Given the description of an element on the screen output the (x, y) to click on. 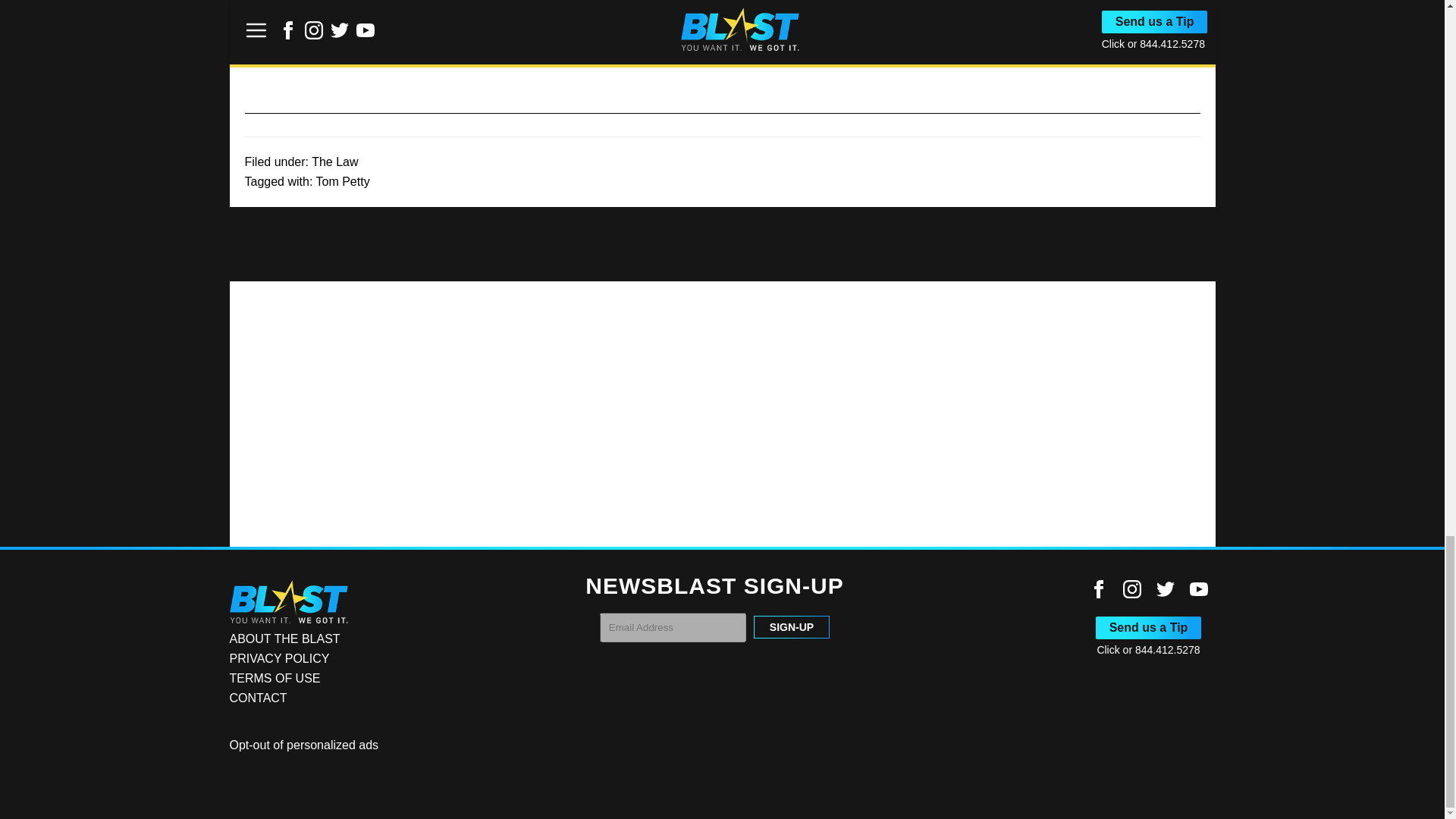
Opt-out of personalized ads (303, 744)
SIGN-UP (791, 626)
PRIVACY POLICY (278, 658)
Link to Twitter (1164, 588)
SIGN-UP (791, 626)
TERMS OF USE (274, 677)
Tom Petty (342, 181)
ABOUT THE BLAST (283, 638)
Send us a Tip (1149, 627)
Link to Instagram (1131, 594)
Click or 844.412.5278 (1147, 649)
Link to Youtube (1198, 594)
Link to Facebook (1097, 588)
Link to Facebook (1097, 594)
Link to Instagram (1131, 588)
